Given the description of an element on the screen output the (x, y) to click on. 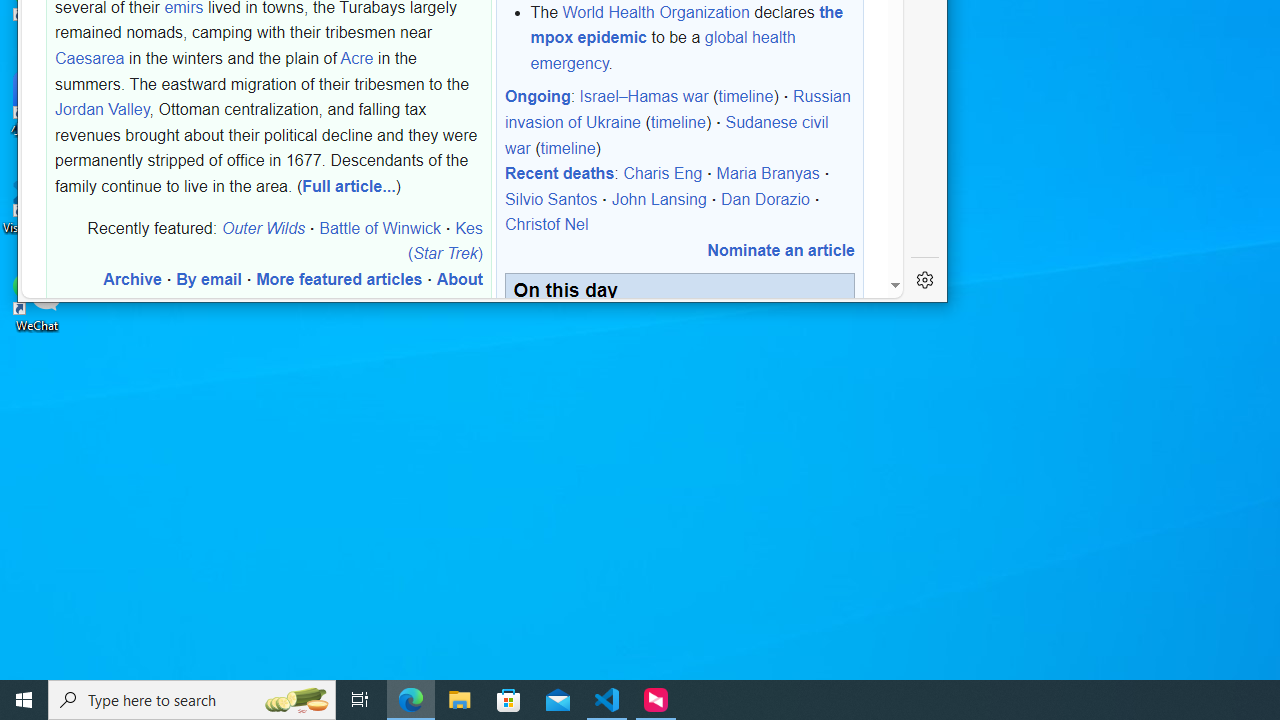
Microsoft Edge - 1 running window (411, 699)
timeline (568, 147)
Start (24, 699)
Ongoing (537, 96)
Sudanese civil war (666, 134)
Acre (356, 58)
Maria Branyas (767, 173)
Microsoft Store (509, 699)
Russian invasion of Ukraine (677, 109)
Caesarea (90, 58)
Archive (132, 279)
Type here to search (191, 699)
John Lansing (658, 199)
